Given the description of an element on the screen output the (x, y) to click on. 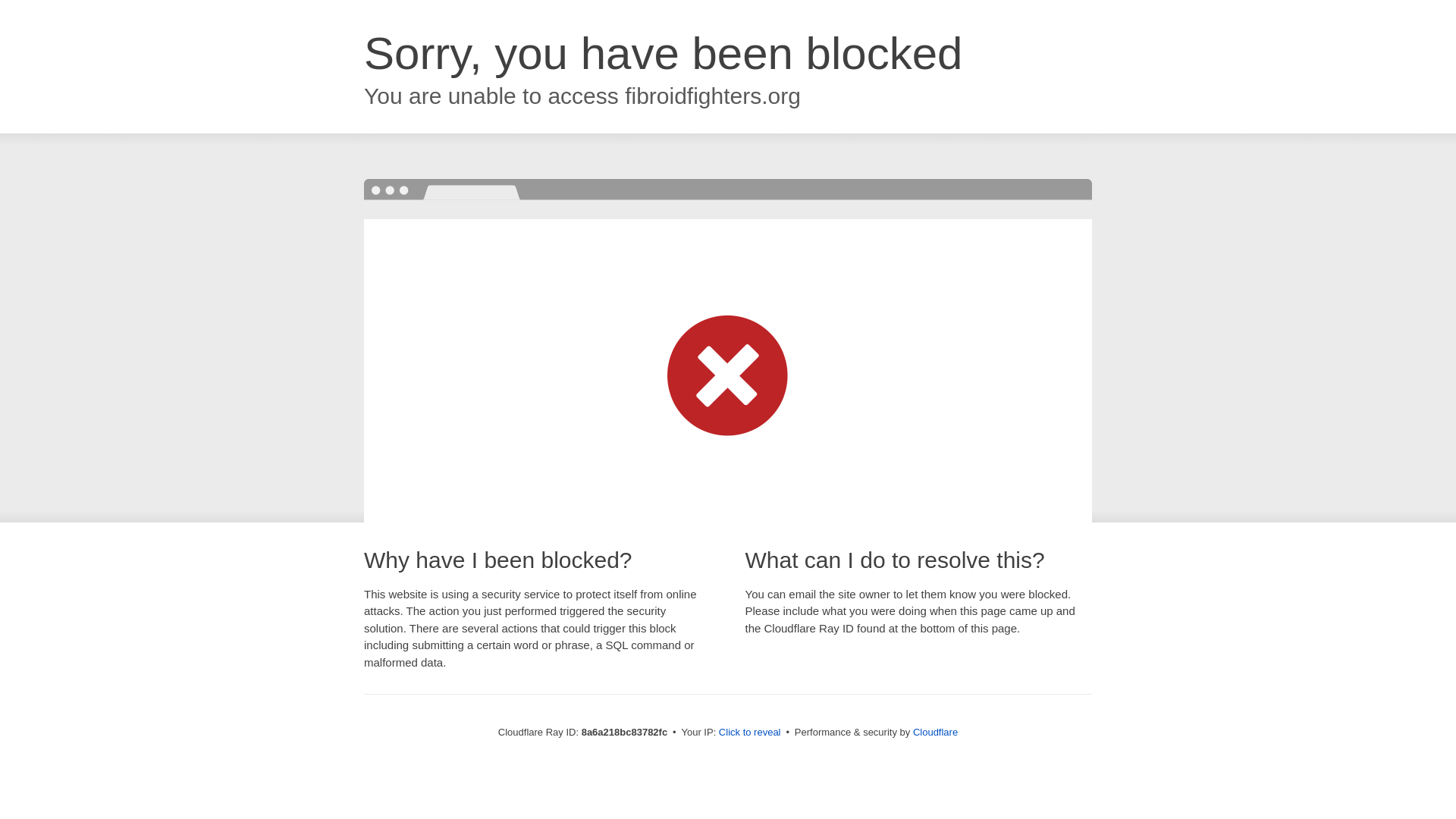
Click to reveal (749, 732)
Cloudflare (935, 731)
